Given the description of an element on the screen output the (x, y) to click on. 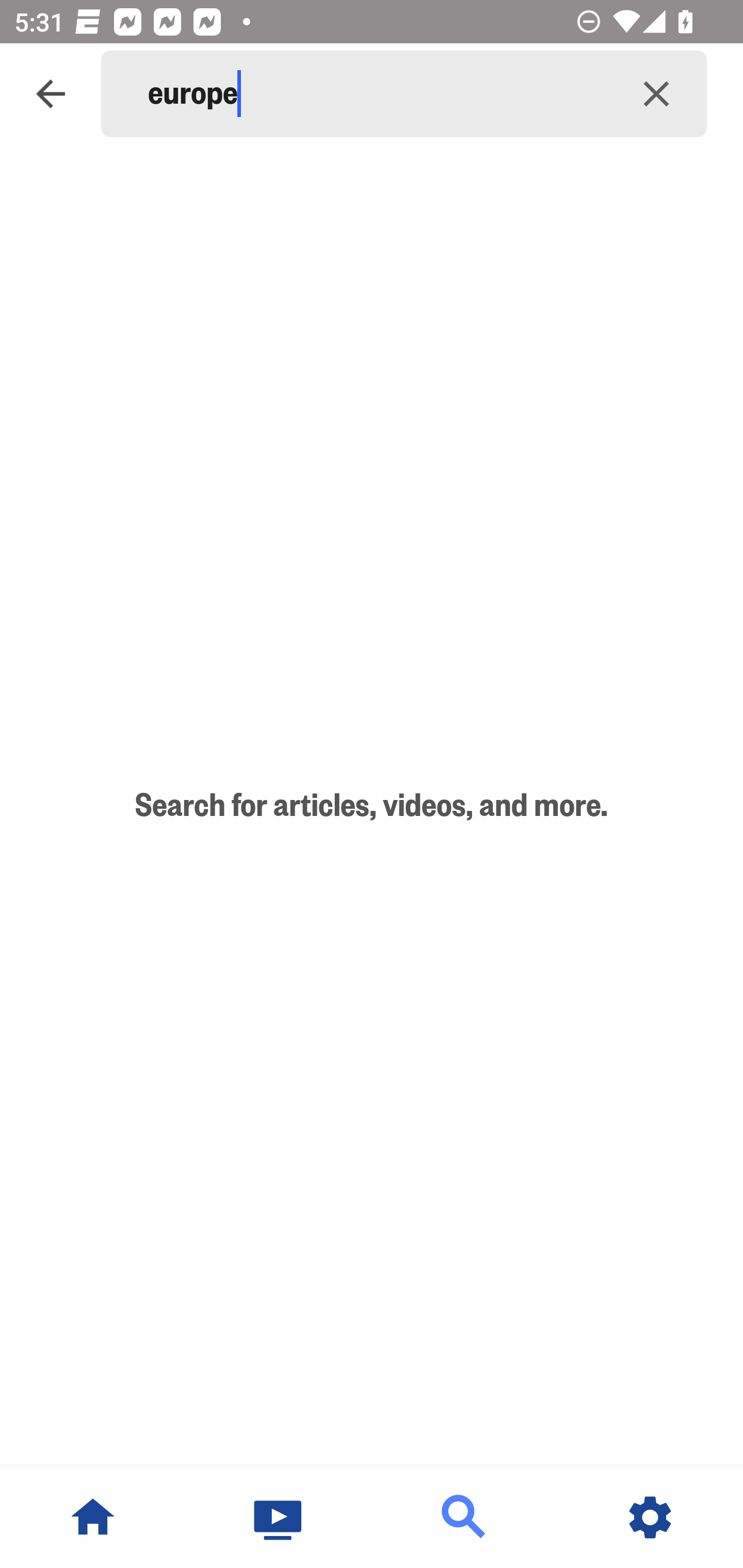
Navigate up (50, 93)
Clear query (656, 93)
europe (376, 94)
NBC News Home (92, 1517)
Watch (278, 1517)
Settings (650, 1517)
